Given the description of an element on the screen output the (x, y) to click on. 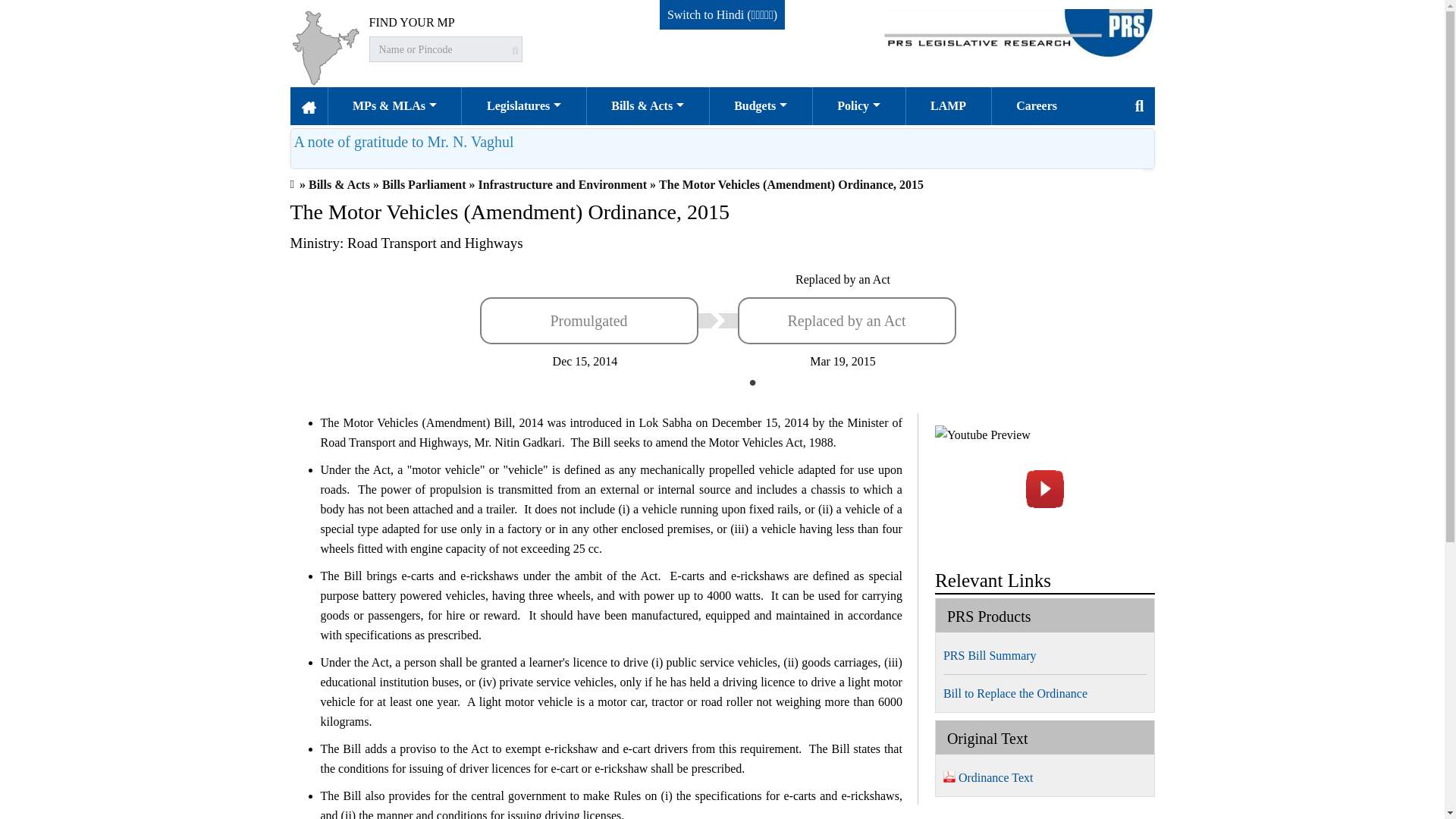
Policy (858, 105)
View (403, 141)
Legislatures (523, 105)
Budgets (761, 105)
LAMP (948, 105)
PRS Bill Summary (994, 655)
Bill to Replace the Ordinance (1019, 692)
